Given the description of an element on the screen output the (x, y) to click on. 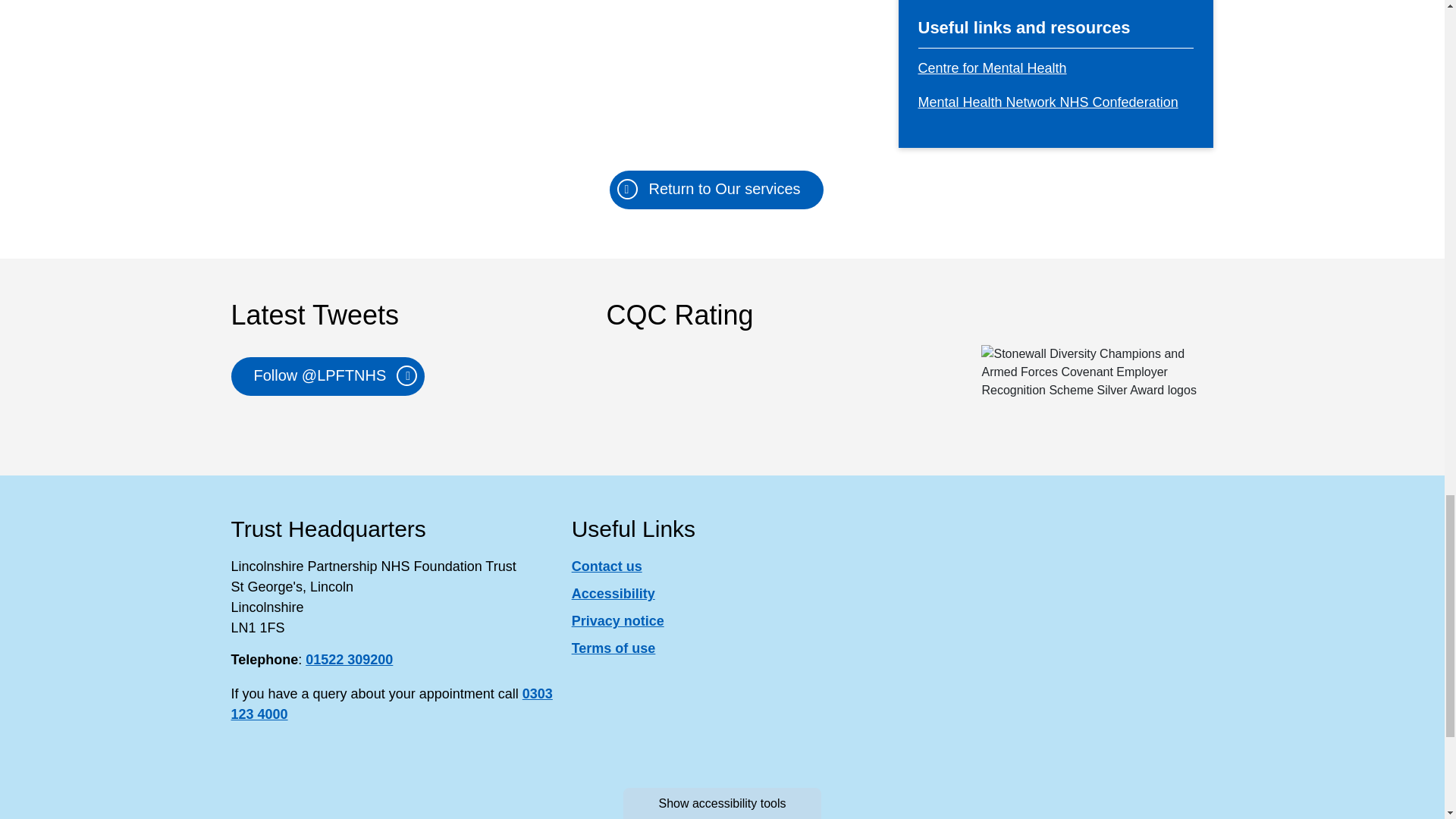
Telephone 03031234000 (390, 703)
Telephone 01522309200 (349, 659)
